Given the description of an element on the screen output the (x, y) to click on. 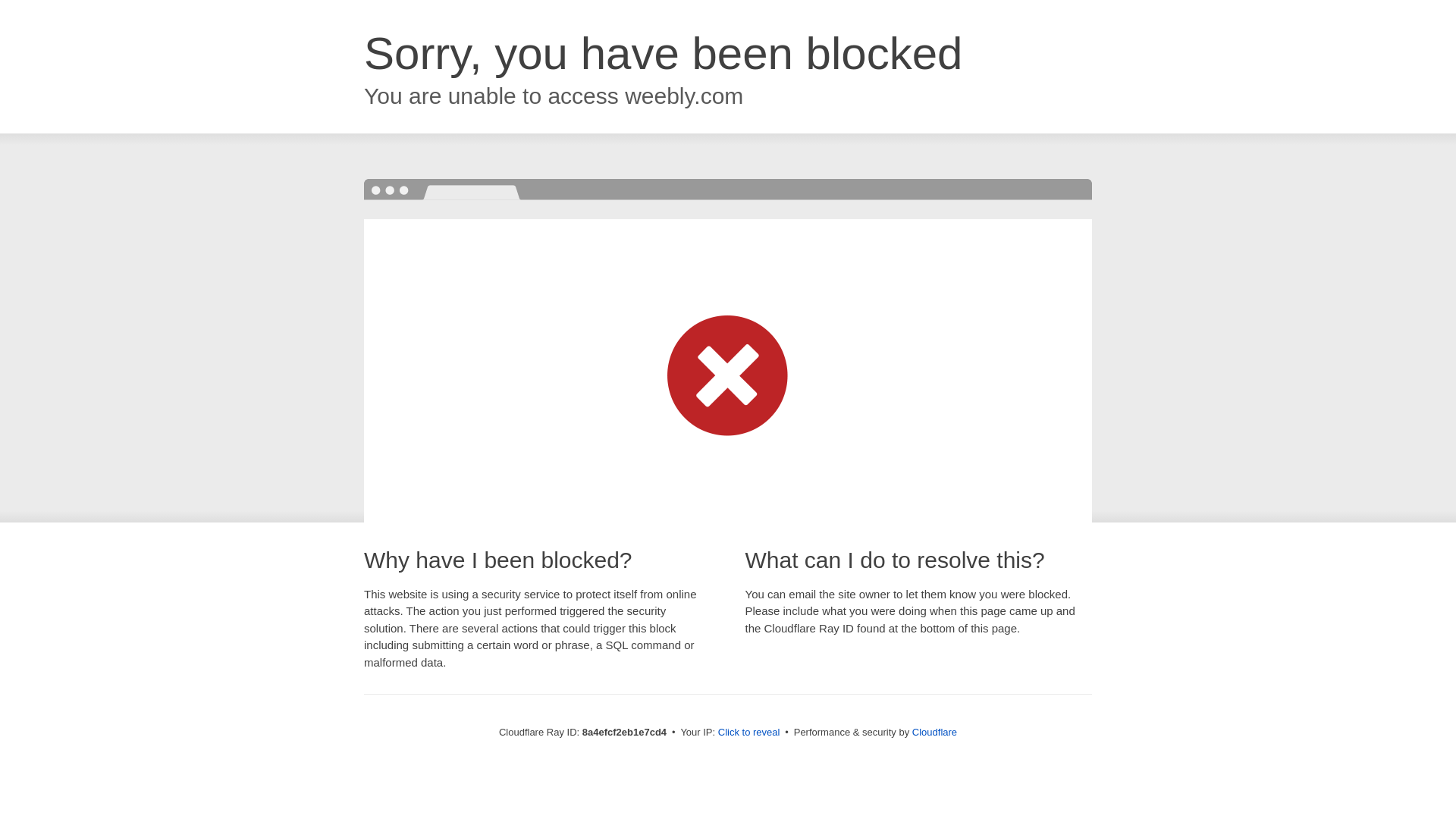
Cloudflare (934, 731)
Click to reveal (748, 732)
